Given the description of an element on the screen output the (x, y) to click on. 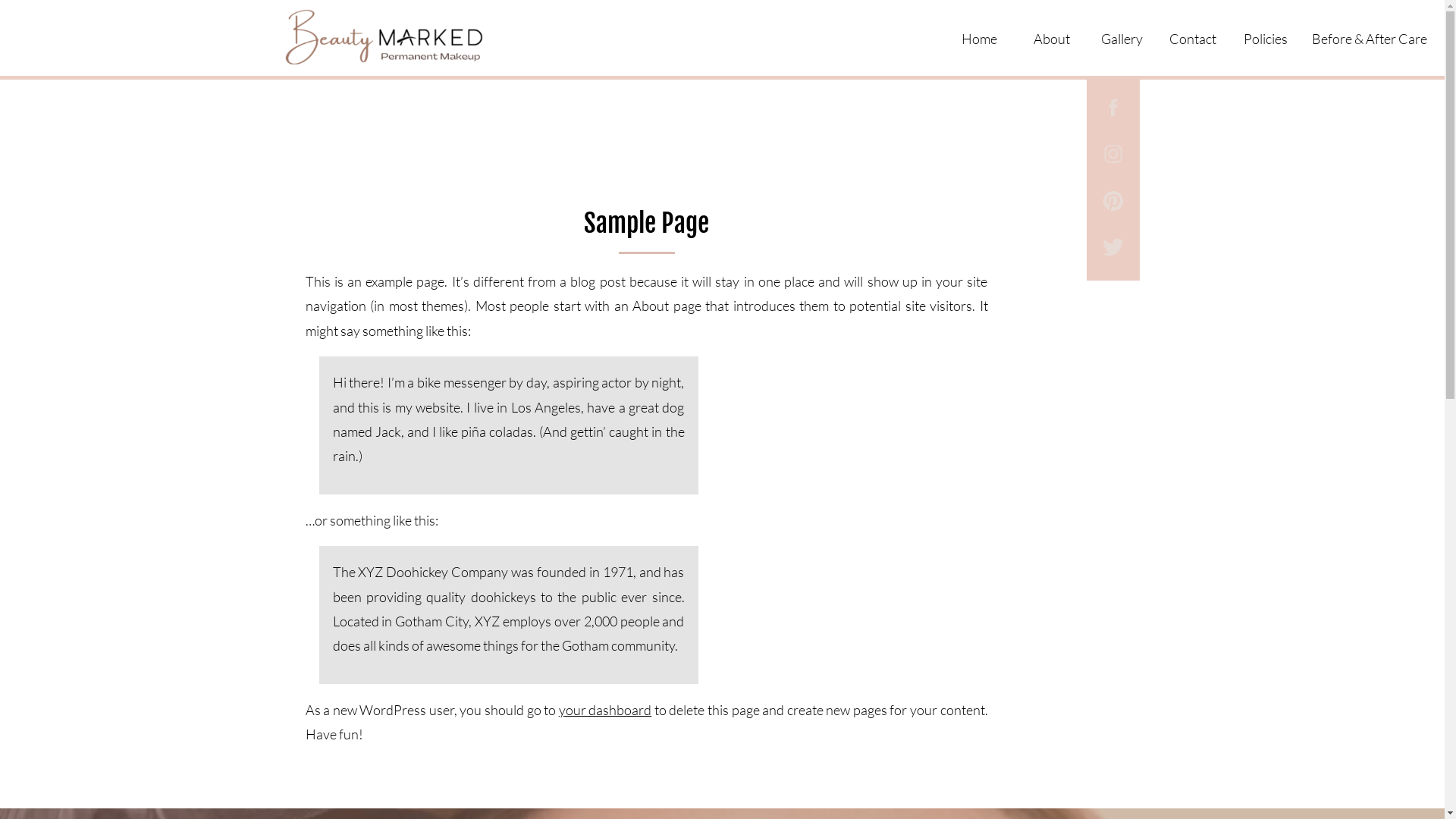
Policies Element type: text (1264, 36)
your dashboard Element type: text (605, 709)
Contact Element type: text (1193, 36)
Gallery Element type: text (1126, 36)
Home Element type: text (981, 36)
Before & After Care Element type: text (1370, 36)
About Element type: text (1053, 36)
